Given the description of an element on the screen output the (x, y) to click on. 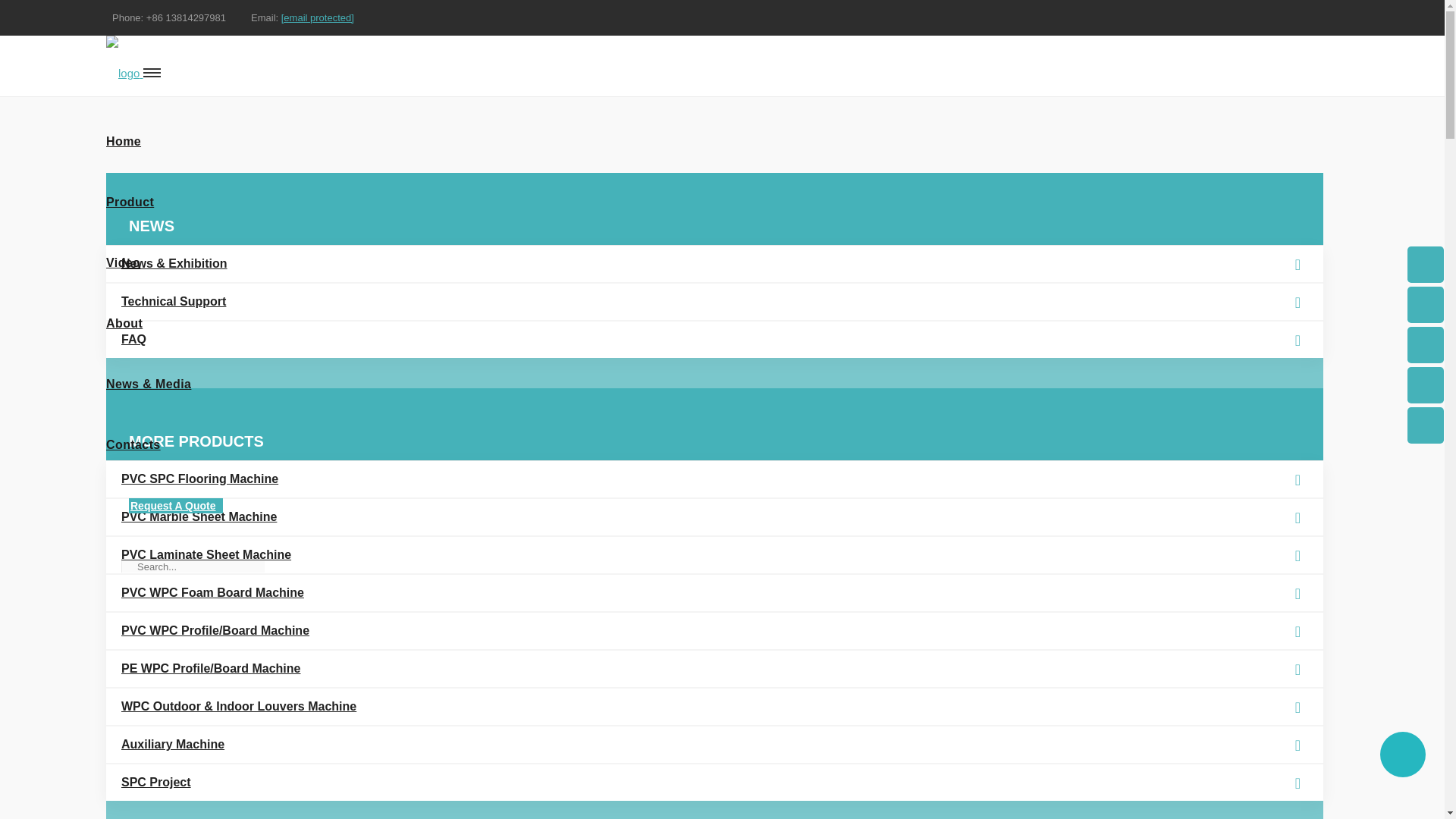
Chinese (1319, 53)
About (711, 323)
Home (711, 141)
Video (711, 262)
Contacts (722, 444)
Product (711, 201)
English (1269, 53)
Request A Quote (175, 505)
